Given the description of an element on the screen output the (x, y) to click on. 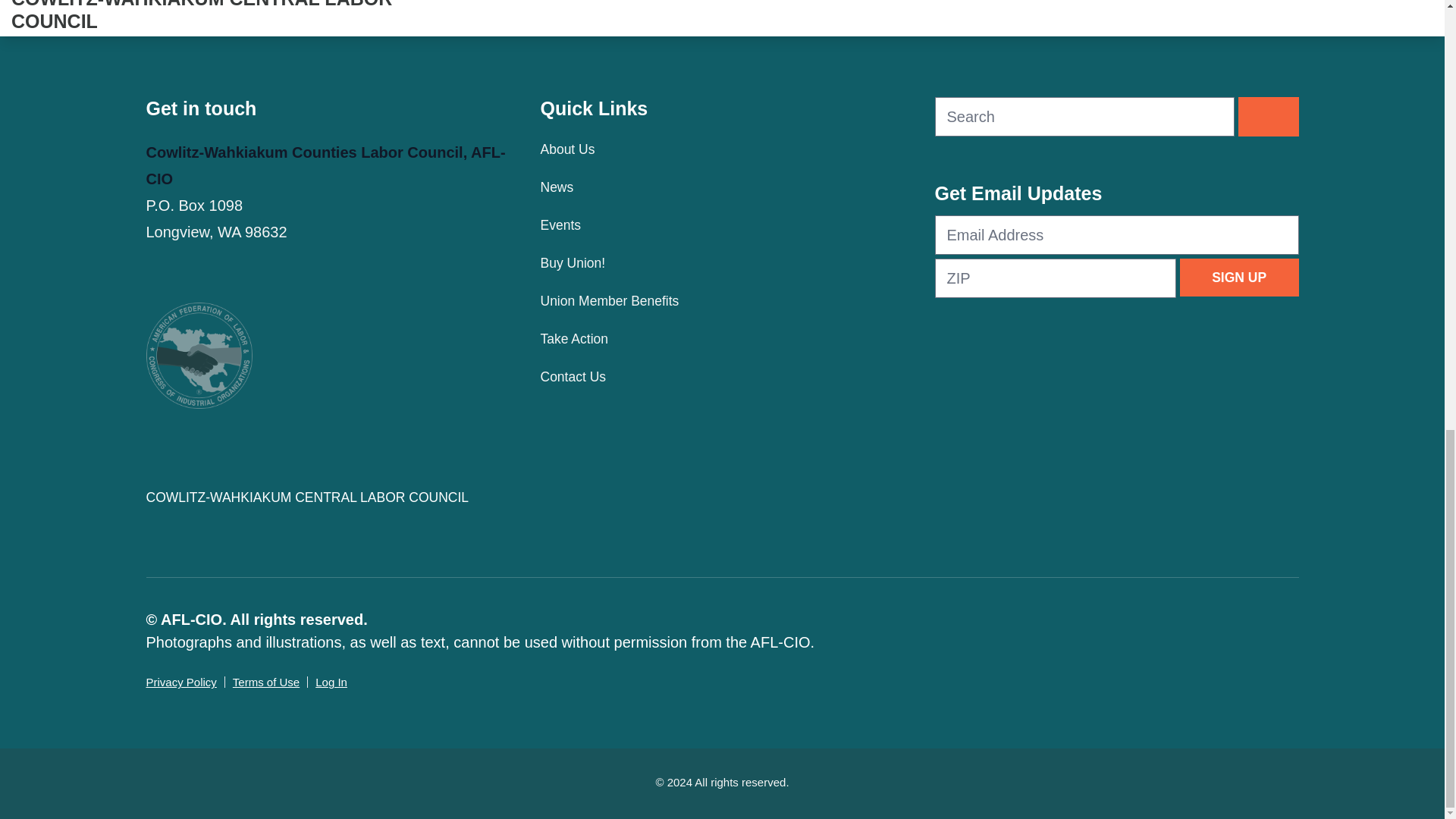
About Us (722, 149)
Events (722, 225)
COWLITZ-WAHKIAKUM CENTRAL LABOR COUNCIL (327, 497)
Union Member Benefits (722, 300)
Take Action (722, 338)
News (722, 187)
Buy Union! (722, 262)
